Given the description of an element on the screen output the (x, y) to click on. 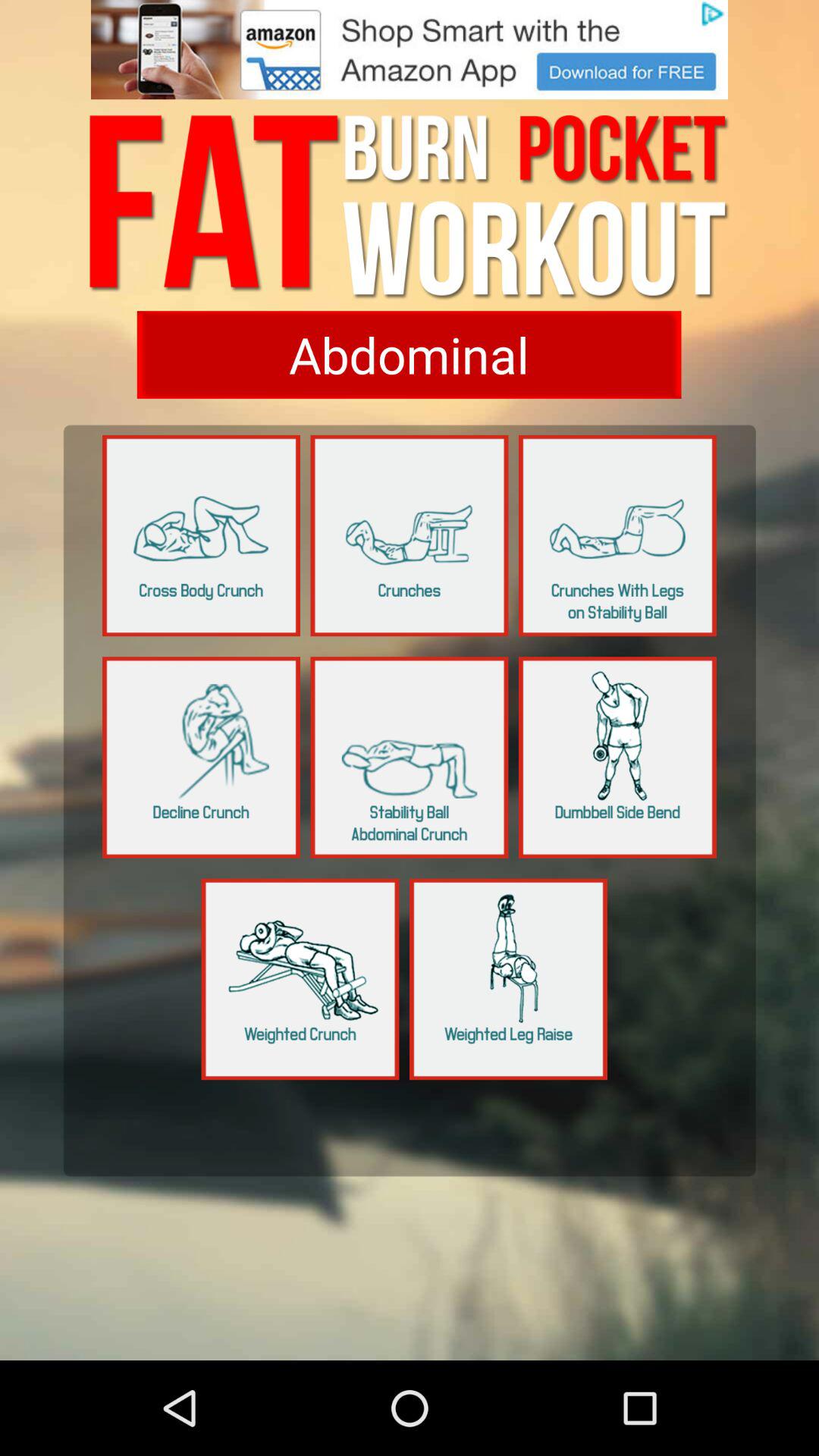
weighted leg raise option (508, 979)
